Given the description of an element on the screen output the (x, y) to click on. 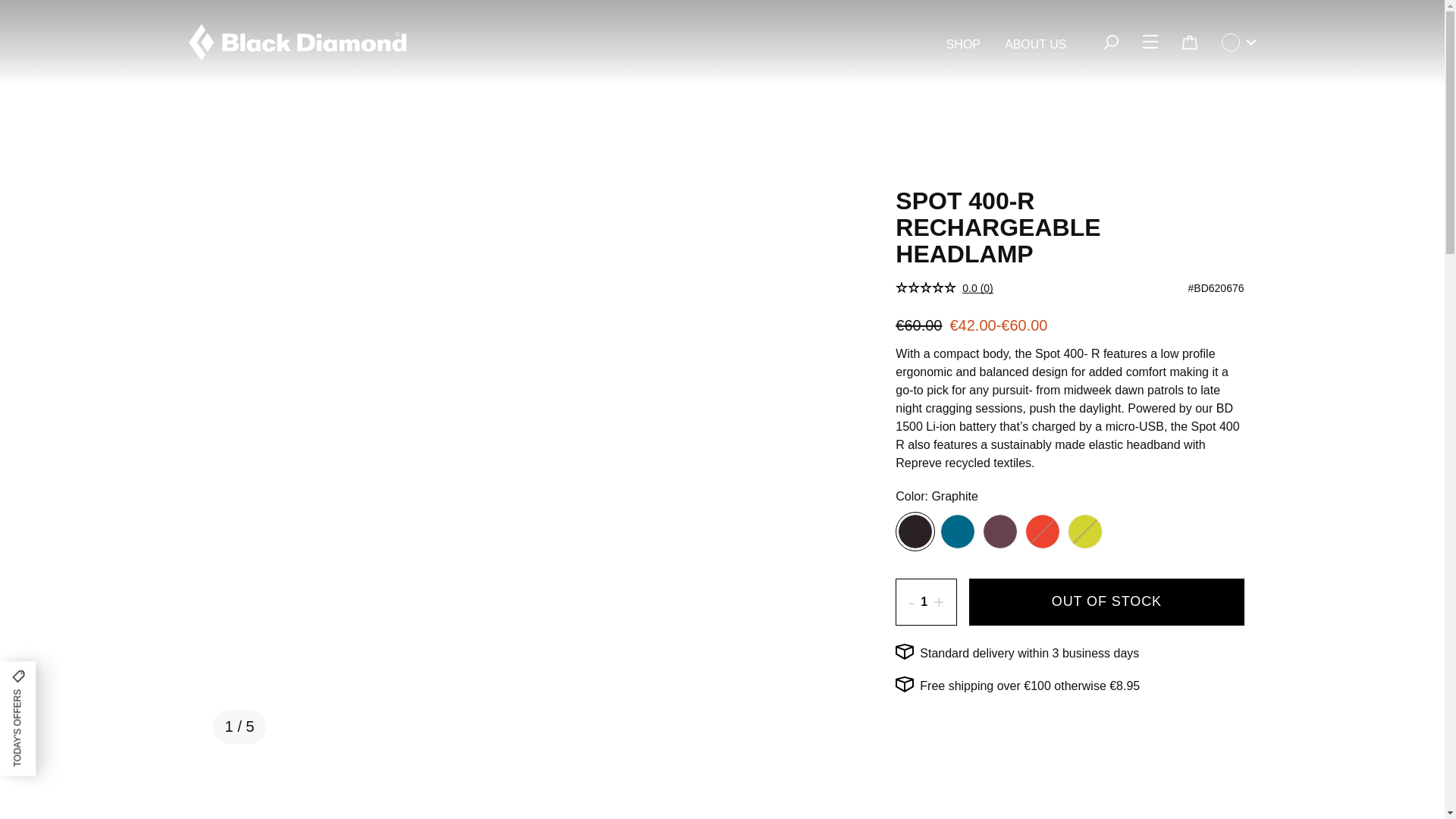
SHOP (963, 44)
Optical Yellow Out of Stock (1085, 531)
CART (1188, 42)
Change Locale (1238, 42)
Black Diamond (296, 42)
Bordeaux  (999, 531)
Black Diamond (296, 42)
Graphite  (914, 531)
ABOUT US (1035, 44)
Octane Out of Stock (1042, 531)
Azul  (956, 531)
